Given the description of an element on the screen output the (x, y) to click on. 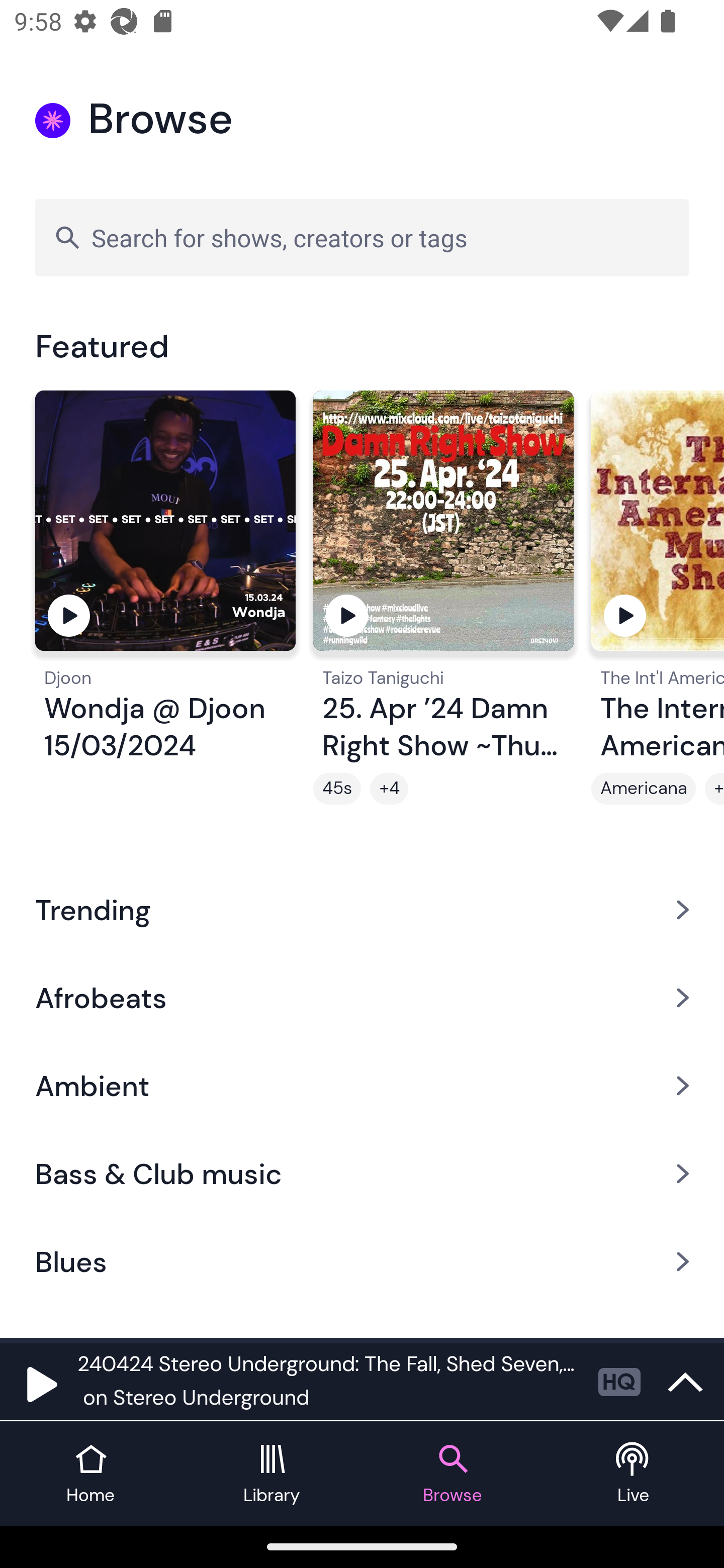
Search for shows, creators or tags (361, 237)
45s (337, 788)
Americana (643, 788)
Trending (361, 909)
Afrobeats (361, 997)
Ambient (361, 1085)
Bass & Club music (361, 1174)
Blues (361, 1262)
Home tab Home (90, 1473)
Library tab Library (271, 1473)
Browse tab Browse (452, 1473)
Live tab Live (633, 1473)
